Given the description of an element on the screen output the (x, y) to click on. 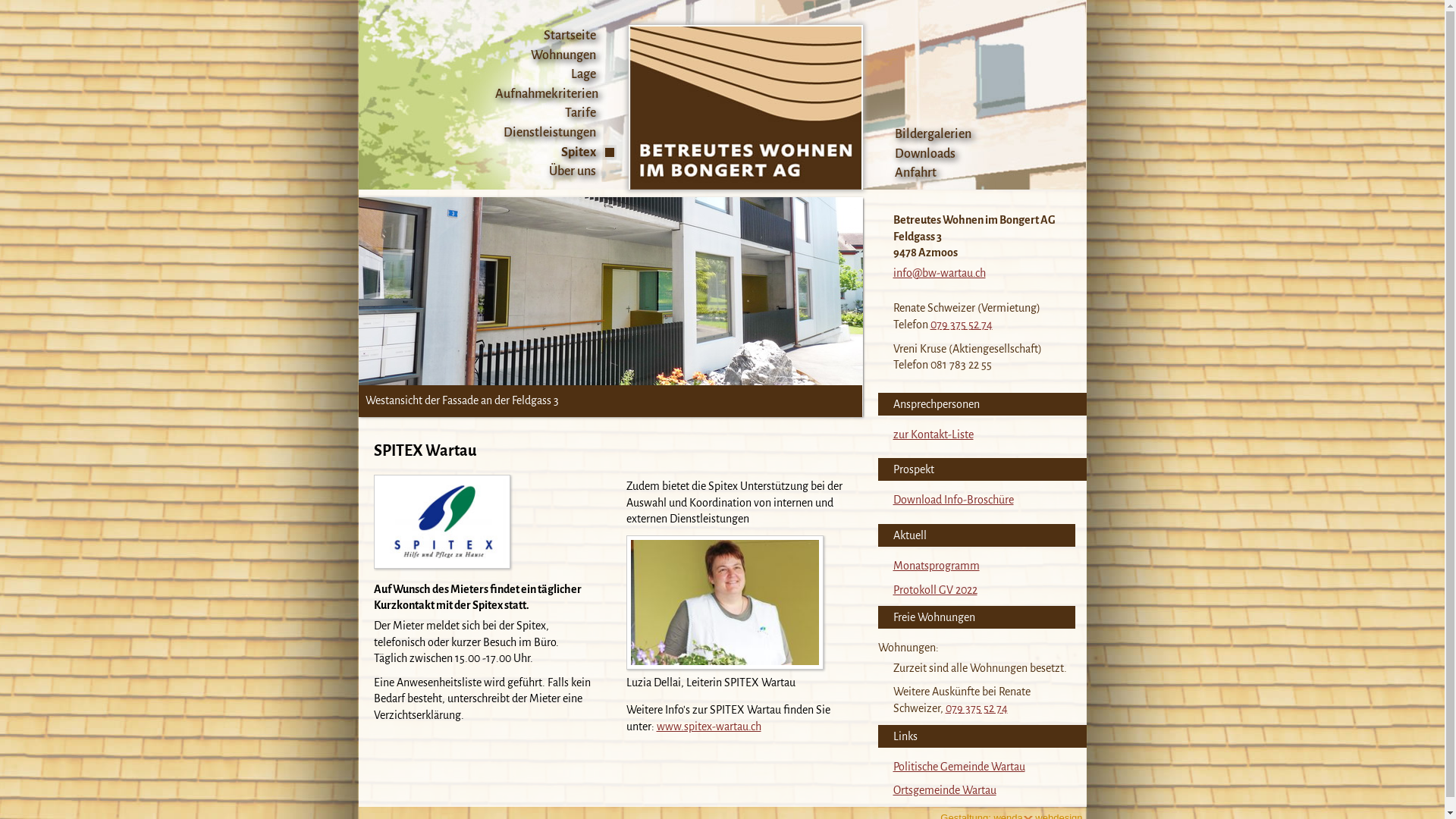
Downloads Element type: text (933, 154)
Tarife Element type: text (554, 113)
info@bw-wartau.ch Element type: text (939, 272)
Protokoll GV 2022 Element type: text (935, 589)
SPITEX Wartau Element type: hover (441, 521)
Lage Element type: text (554, 74)
Bildergalerien Element type: text (933, 134)
Monatsprogramm Element type: text (936, 565)
Spitex Element type: text (554, 153)
zur Kontakt-Liste Element type: text (933, 434)
079 375 52 74 Element type: text (975, 708)
Wohnungen Element type: text (554, 55)
Ortsgemeinde Wartau Element type: text (944, 790)
Luzia Dellai, Leiterin SPITEX Wartau Element type: hover (724, 602)
079 375 52 74 Element type: text (960, 324)
Dienstleistungen Element type: text (554, 133)
www.spitex-wartau.ch Element type: text (708, 726)
Aufnahmekriterien Element type: text (554, 94)
Anfahrt Element type: text (933, 173)
Politische Gemeinde Wartau Element type: text (959, 765)
Startseite Element type: text (554, 36)
